Given the description of an element on the screen output the (x, y) to click on. 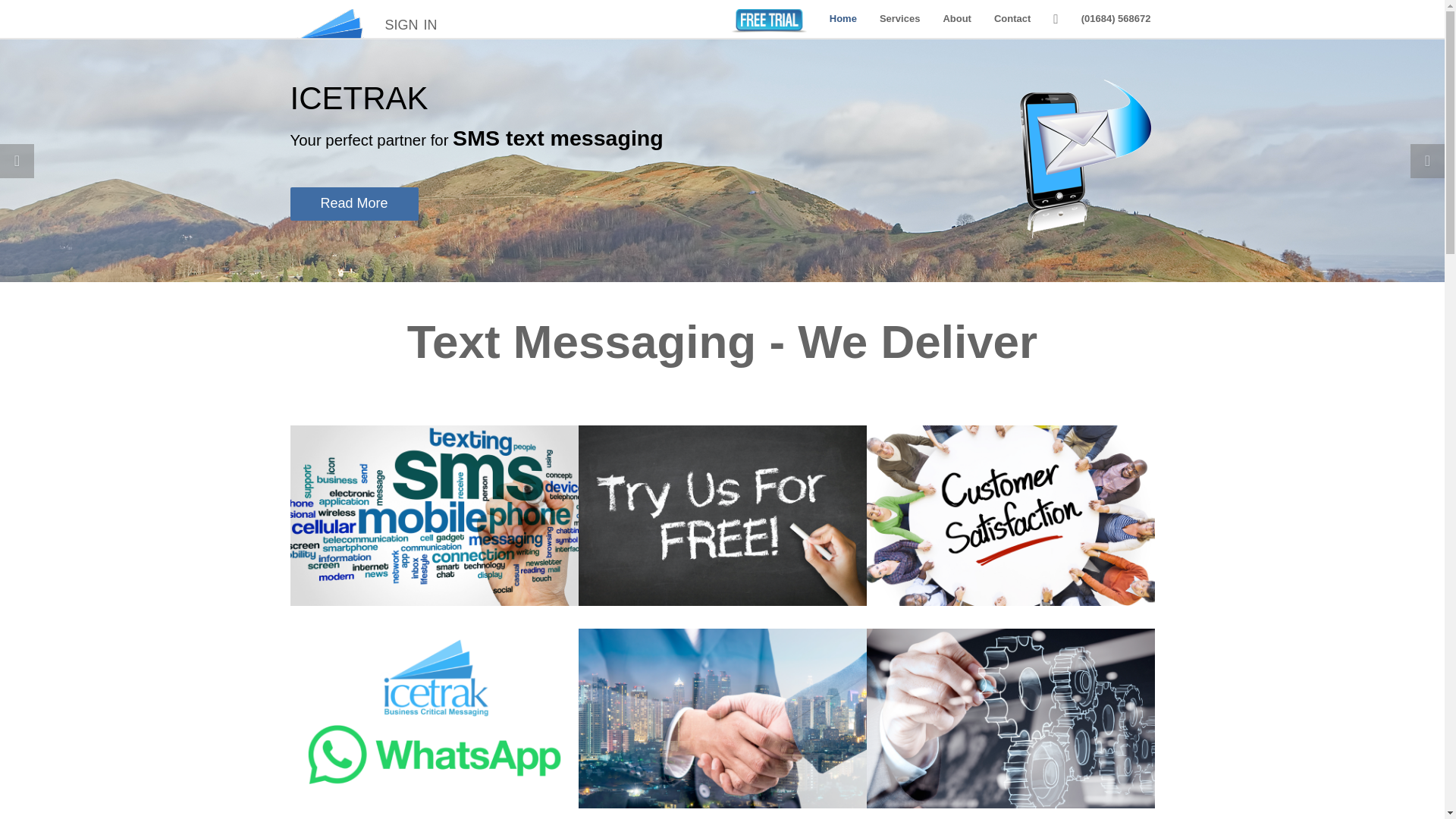
sign in (410, 18)
About (956, 18)
Contact (1012, 18)
Home (842, 18)
Read More (353, 203)
Previous (16, 161)
Services (899, 18)
